Given the description of an element on the screen output the (x, y) to click on. 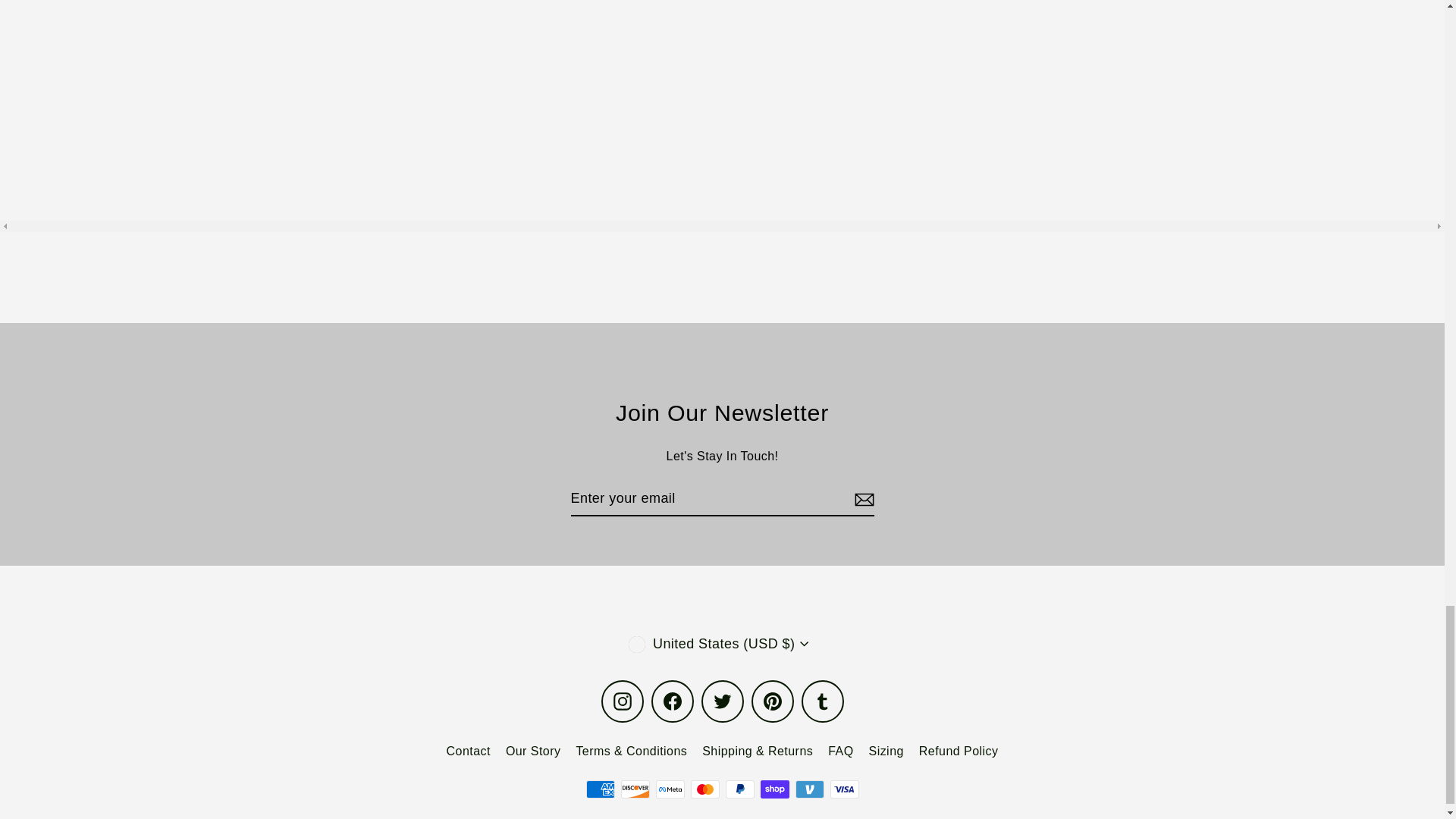
American Express (599, 789)
PayPal (739, 789)
WristBend on Facebook (671, 701)
WristBend on Pinterest (772, 701)
Meta Pay (669, 789)
Mastercard (704, 789)
Discover (634, 789)
WristBend on Instagram (621, 701)
WristBend on Twitter (721, 701)
WristBend on Tumblr (821, 701)
